Given the description of an element on the screen output the (x, y) to click on. 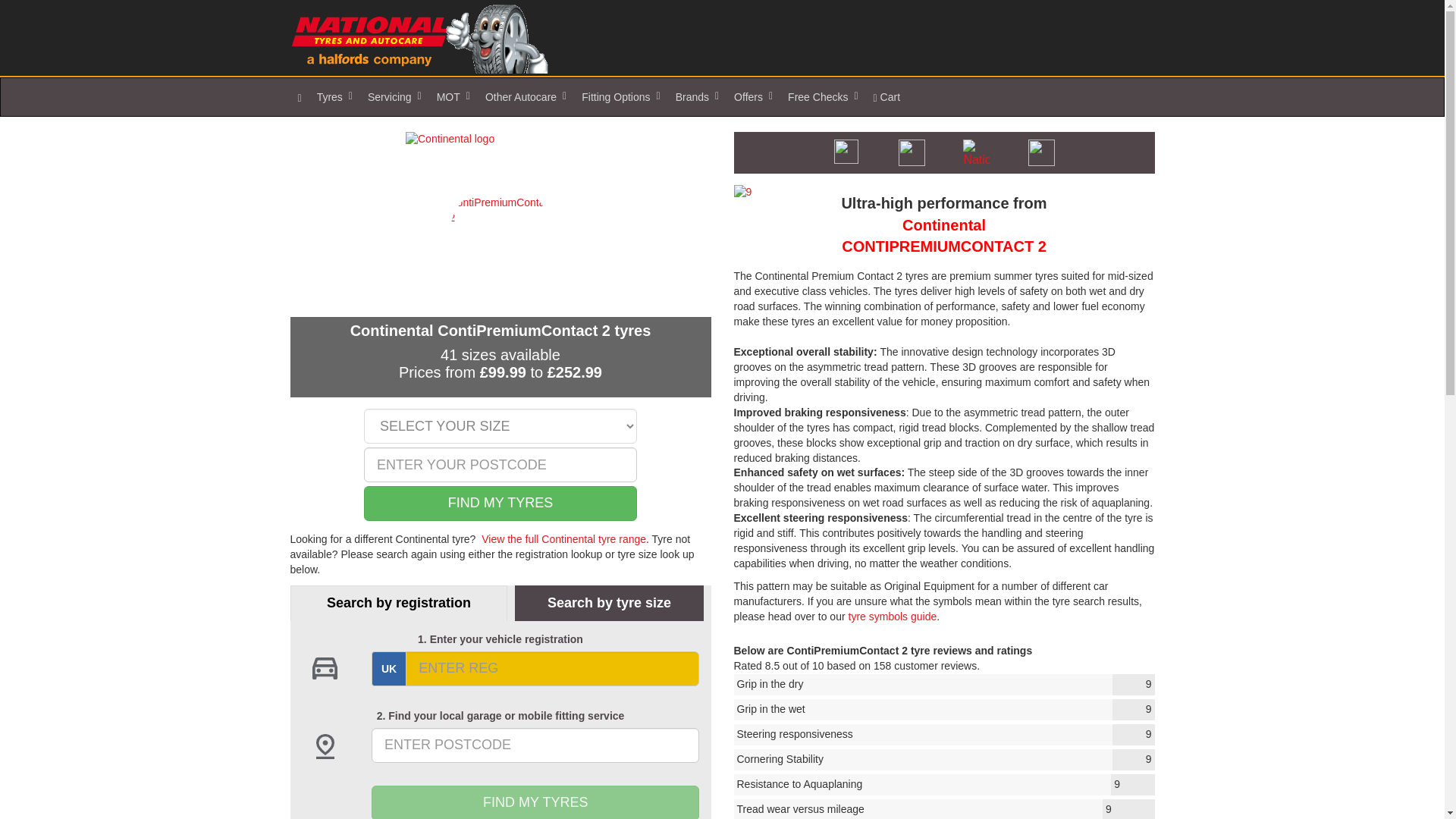
A valid UK Postcode (500, 464)
Print page (911, 152)
When accelerating, cornering or braking (943, 684)
Share on Facebook (976, 152)
Tyres (333, 96)
A valid UK Postcode (534, 745)
Does the car go where you point it? (943, 734)
Send by email (846, 151)
